Given the description of an element on the screen output the (x, y) to click on. 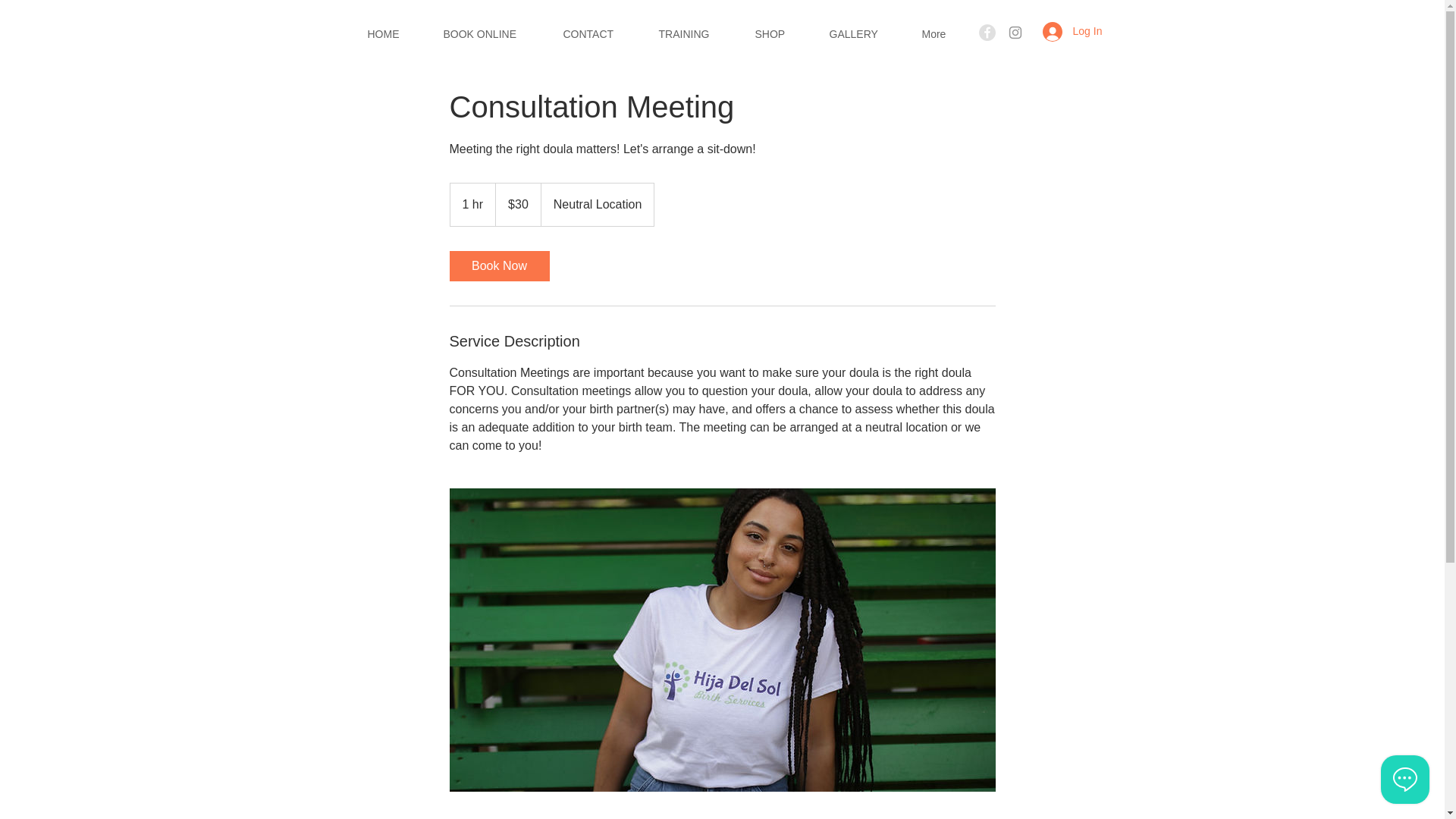
TRAINING (695, 33)
GALLERY (863, 33)
HOME (394, 33)
CONTACT (599, 33)
SHOP (779, 33)
BOOK ONLINE (491, 33)
Log In (1061, 31)
Book Now (498, 265)
